Given the description of an element on the screen output the (x, y) to click on. 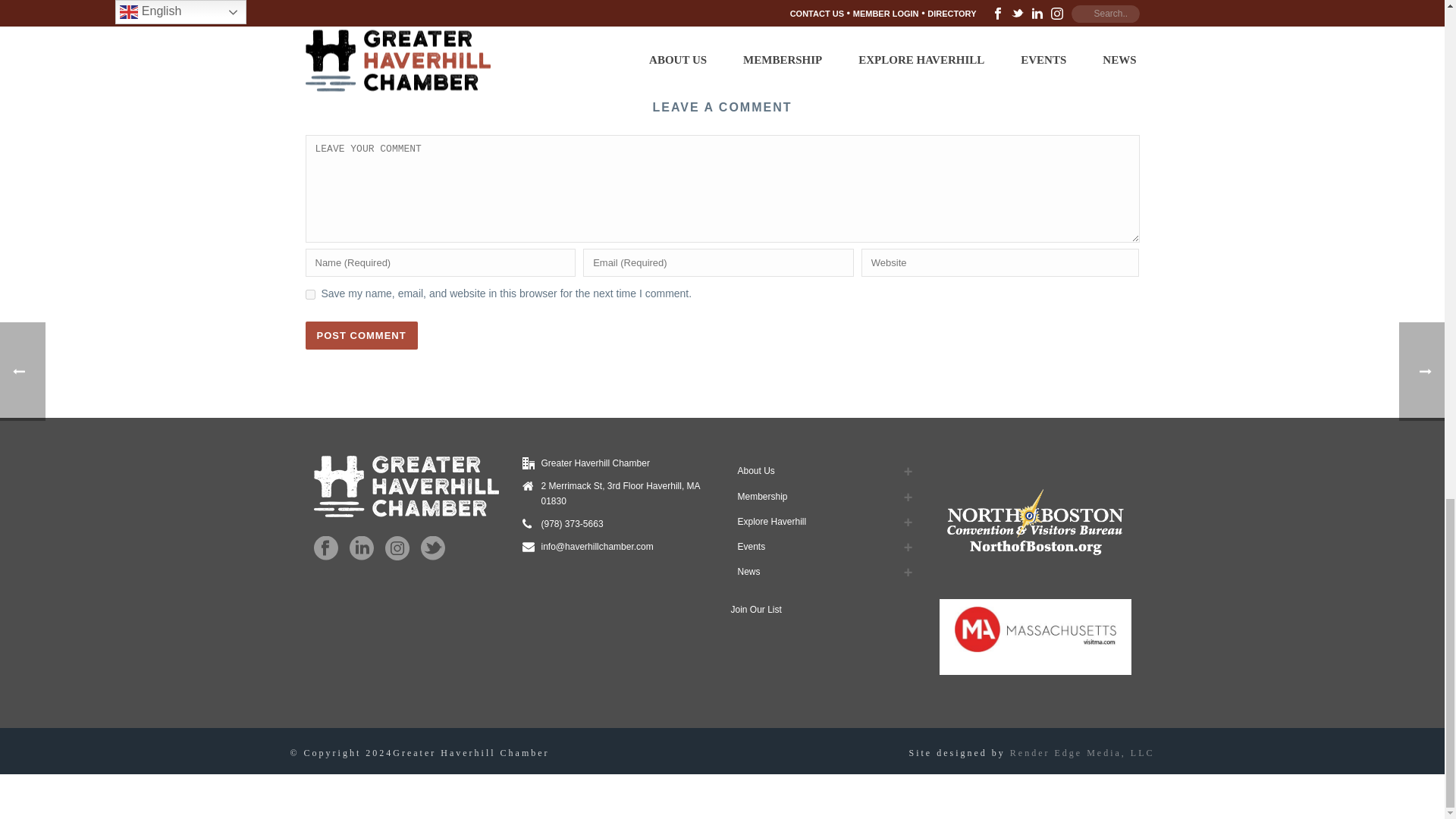
yes (309, 294)
Follow Us on instagram (397, 548)
Follow Us on twitter (432, 548)
POST COMMENT (360, 335)
Follow Us on facebook (325, 548)
Follow Us on linkedin (360, 548)
